Given the description of an element on the screen output the (x, y) to click on. 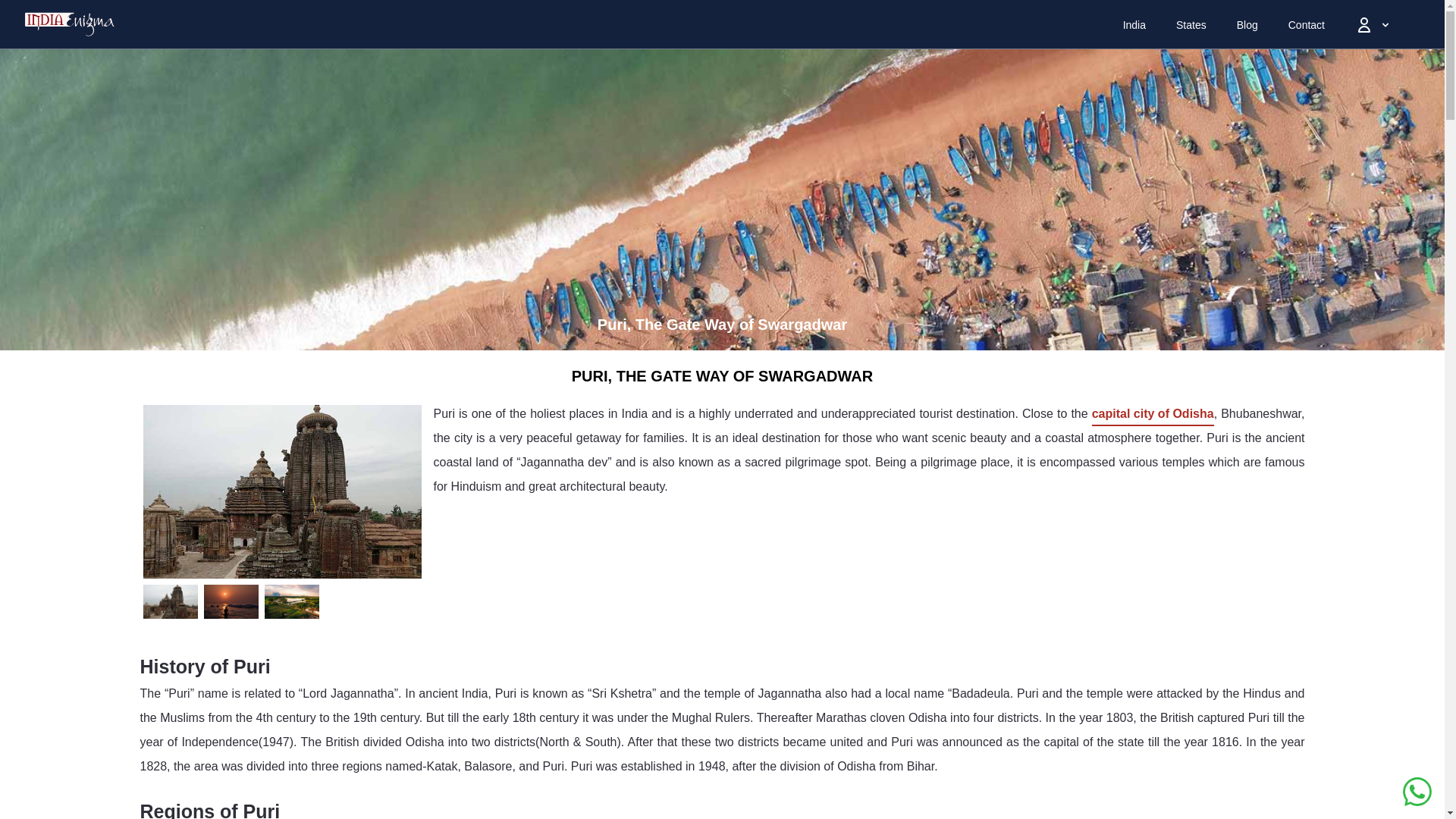
capital city of Odisha (1153, 413)
